Given the description of an element on the screen output the (x, y) to click on. 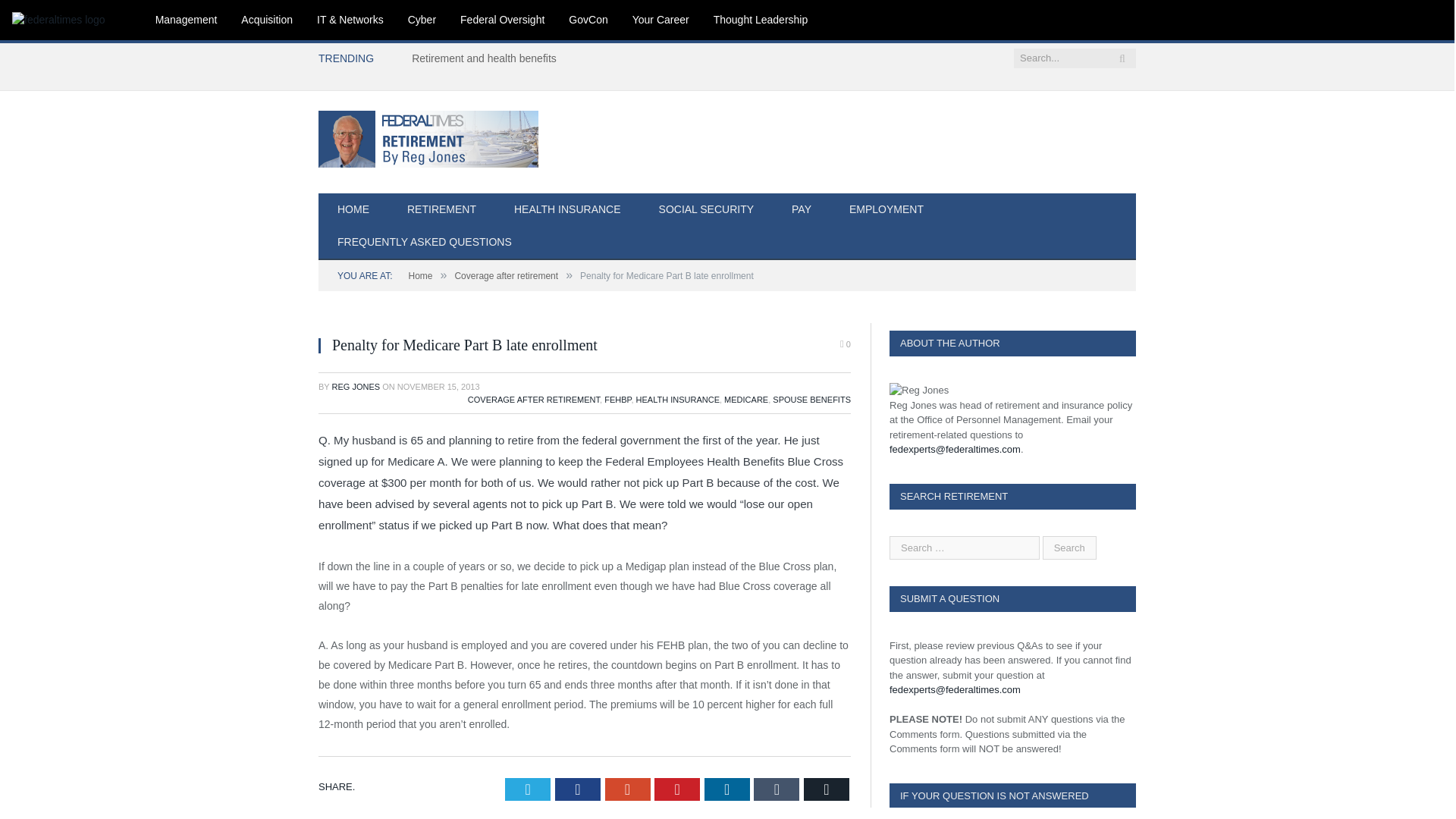
GovCon (588, 19)
Retirement and health benefits (488, 58)
HEALTH INSURANCE (677, 398)
Ask The Experts: Retirement (428, 136)
SOCIAL SECURITY (706, 210)
HOME (353, 210)
Home (419, 276)
COVERAGE AFTER RETIREMENT (533, 398)
Twitter (527, 789)
MEDICARE (745, 398)
